Given the description of an element on the screen output the (x, y) to click on. 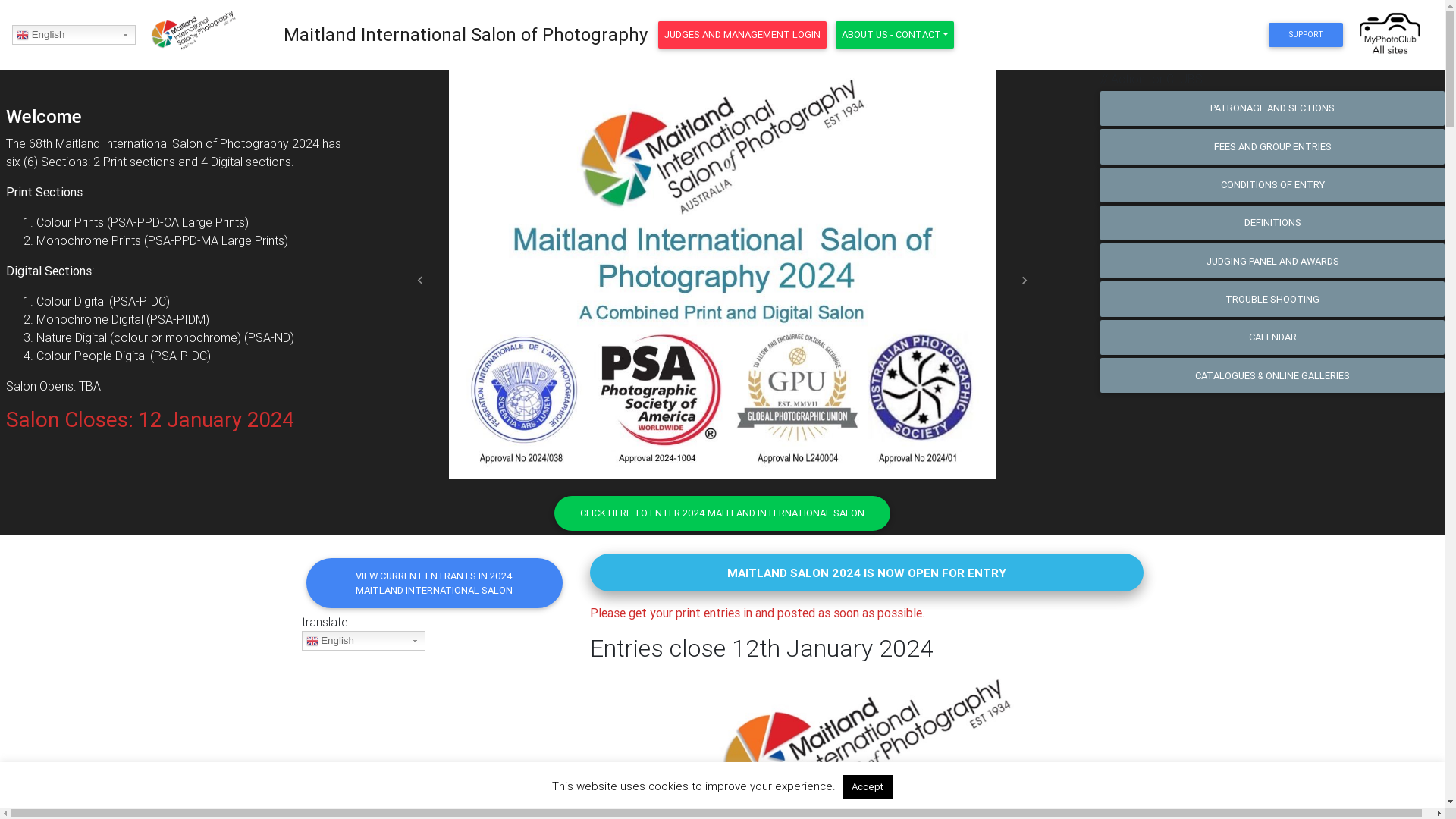
JUDGES AND MANAGEMENT LOGIN Element type: text (742, 34)
Maitland International Salon of Photography Element type: text (465, 35)
Accept Element type: text (867, 786)
SUPPORT Element type: text (1305, 34)
English Element type: text (363, 639)
Next Element type: text (1024, 280)
JUDGING PANEL AND AWARDS Element type: text (1272, 260)
Previous Element type: text (420, 280)
CLICK HERE TO ENTER 2024 MAITLAND INTERNATIONAL SALON Element type: text (722, 512)
English Element type: text (73, 34)
DEFINITIONS Element type: text (1272, 222)
ABOUT US - CONTACT Element type: text (894, 34)
FEES AND GROUP ENTRIES Element type: text (1272, 145)
CONDITIONS OF ENTRY Element type: text (1272, 184)
VIEW CURRENT ENTRANTS IN 2024 MAITLAND INTERNATIONAL SALON Element type: text (434, 583)
TROUBLE SHOOTING Element type: text (1272, 298)
PATRONAGE AND SECTIONS Element type: text (1272, 108)
MAITLAND SALON 2024 IS NOW OPEN FOR ENTRY Element type: text (865, 572)
CALENDAR Element type: text (1272, 337)
CATALOGUES & ONLINE GALLERIES Element type: text (1272, 374)
